Given the description of an element on the screen output the (x, y) to click on. 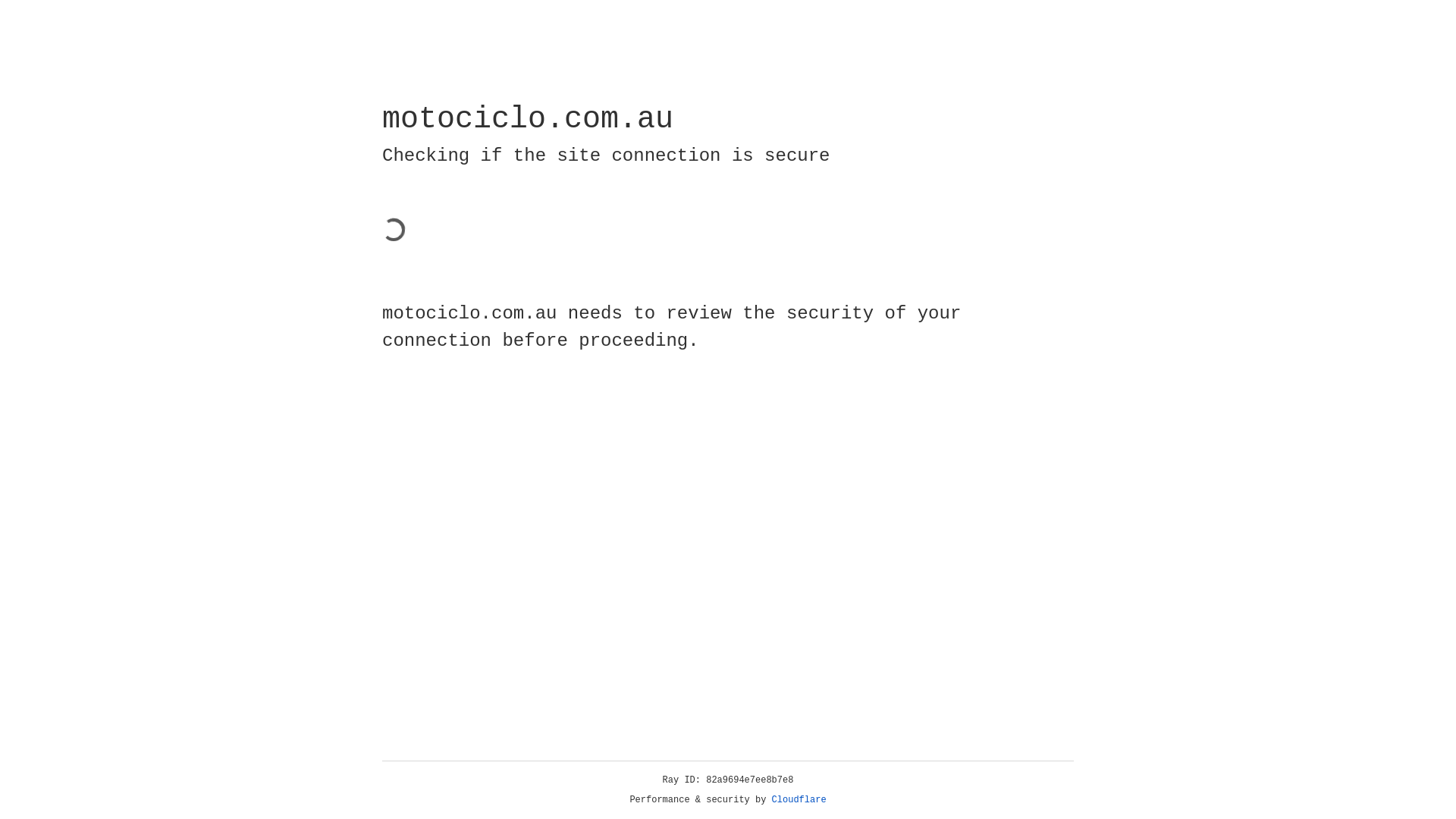
Cloudflare Element type: text (798, 799)
